Given the description of an element on the screen output the (x, y) to click on. 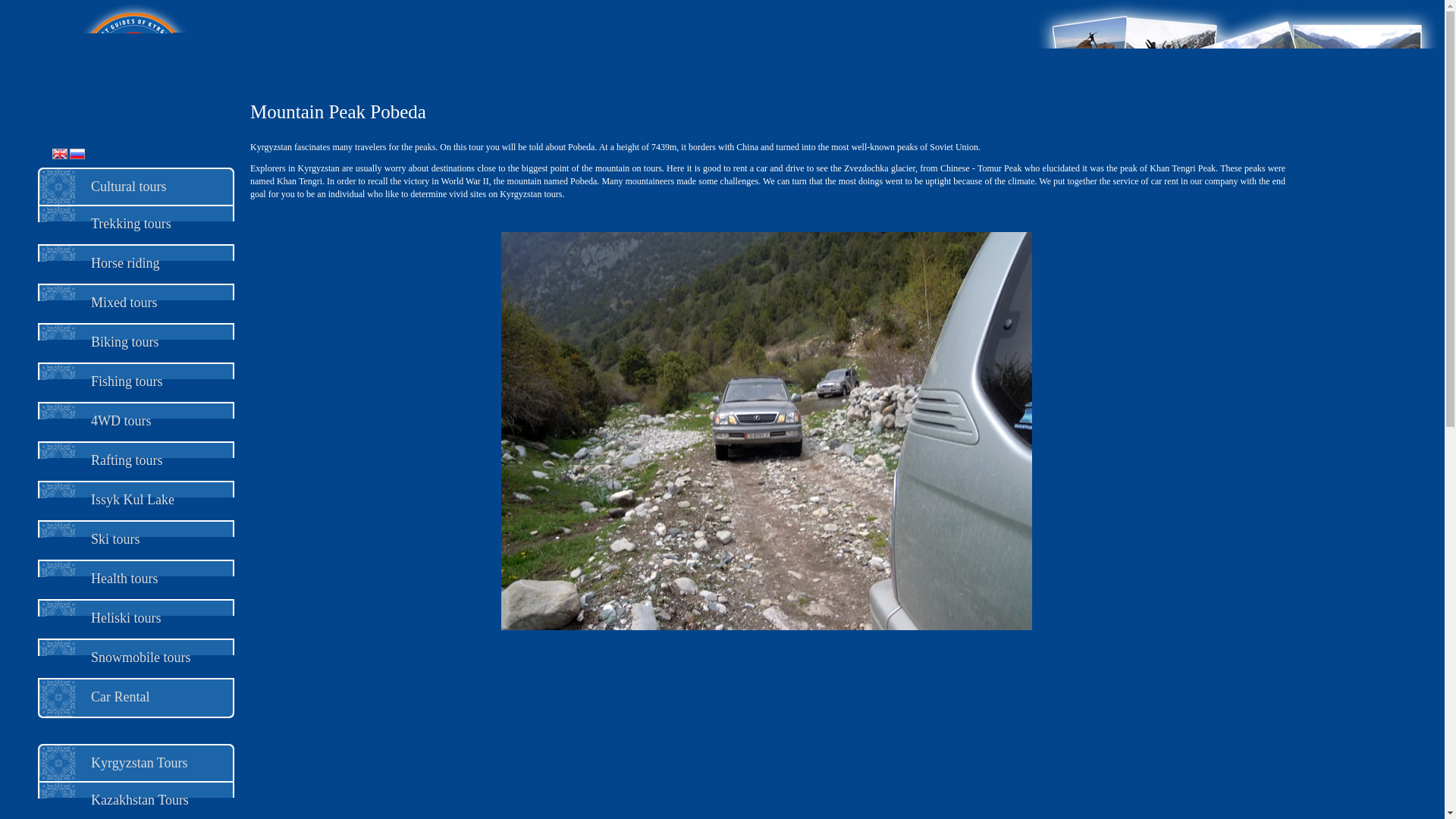
Ski tours (114, 539)
Kazakhstan Tours (139, 799)
Snowmobile tours (140, 657)
Cultural tours (128, 186)
Heliski tours (125, 617)
Issyk Kul Lake (132, 499)
Car Rental (119, 696)
Rafting tours (126, 459)
Kyrgyzstan Tours (138, 762)
